Given the description of an element on the screen output the (x, y) to click on. 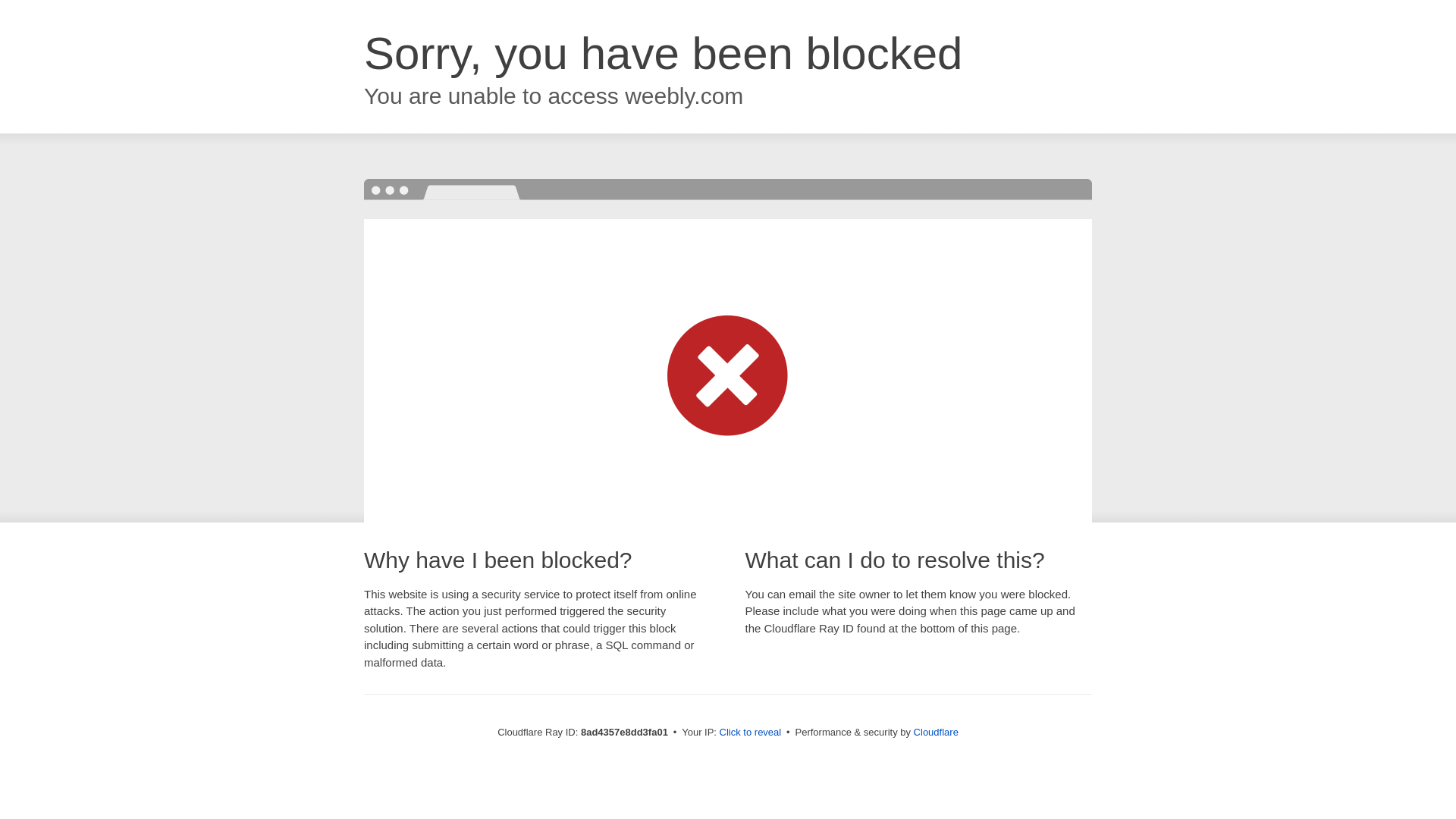
Click to reveal (750, 732)
Cloudflare (936, 731)
